Given the description of an element on the screen output the (x, y) to click on. 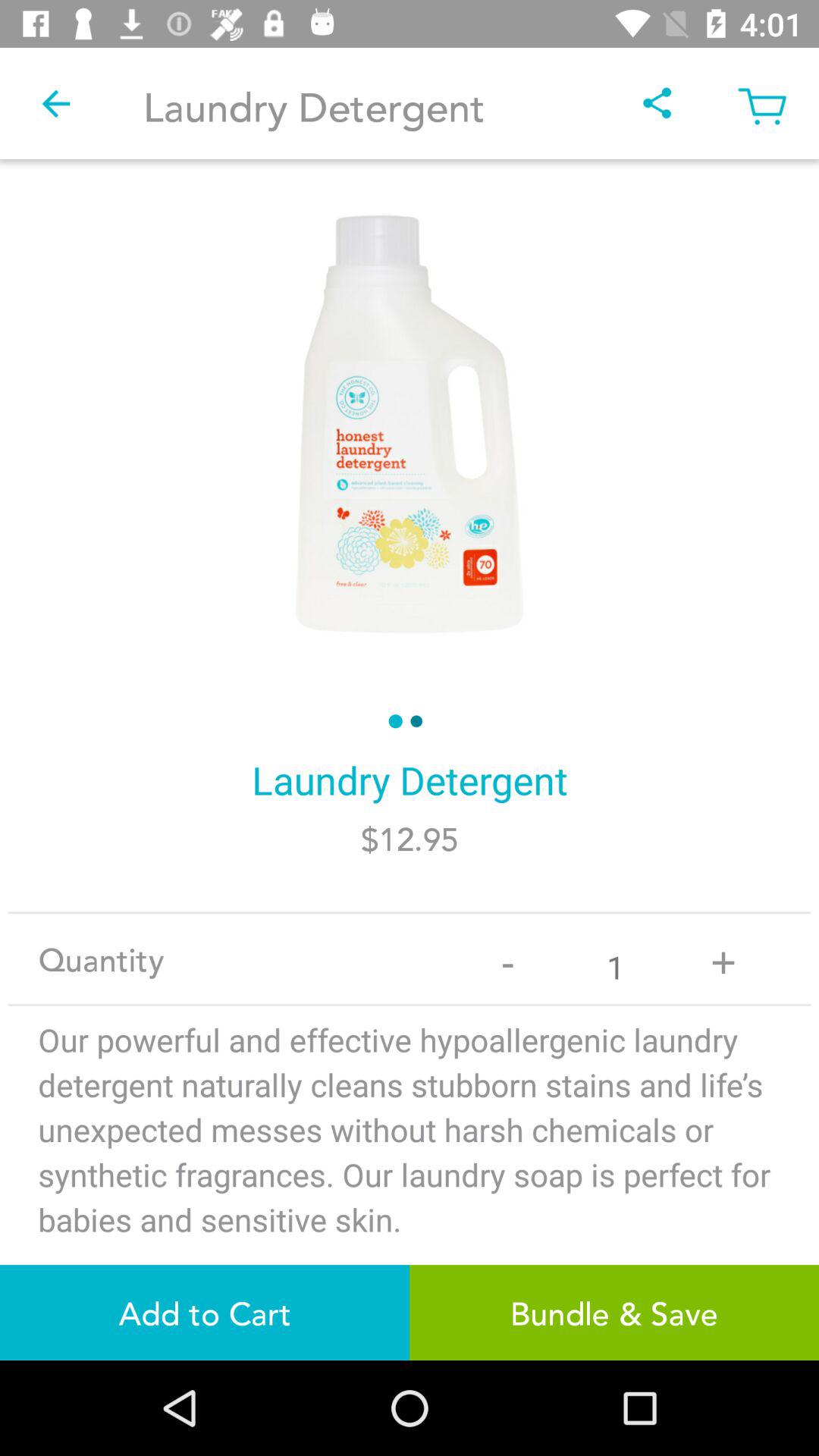
launch the icon to the right of 1 item (723, 958)
